Given the description of an element on the screen output the (x, y) to click on. 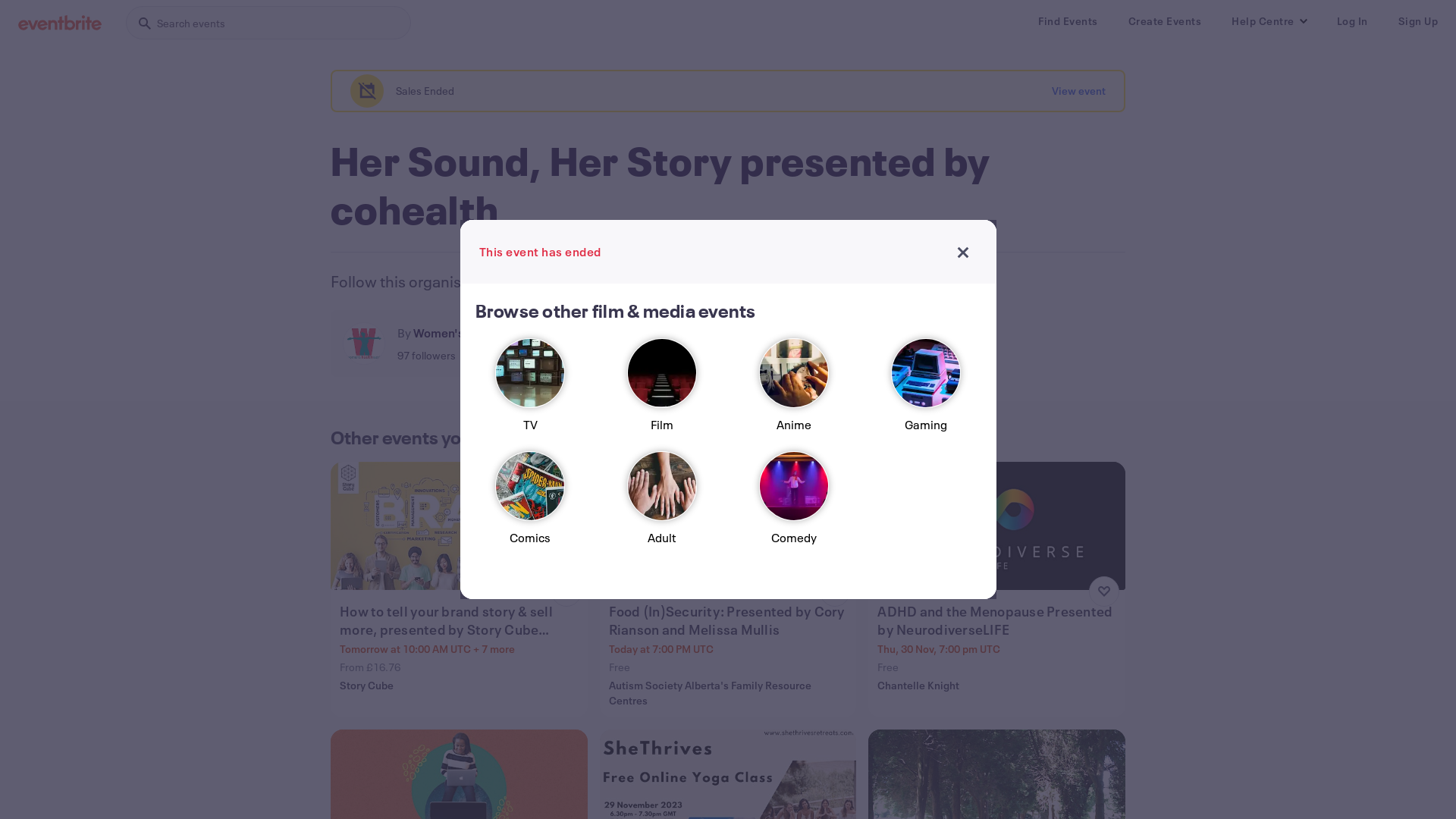
Find Events Element type: text (1068, 21)
Film Element type: text (661, 391)
TV Element type: text (530, 391)
Search events Element type: text (268, 22)
Log In Element type: text (1351, 21)
Adult Element type: text (661, 504)
Sign Up Element type: text (1418, 21)
Create Events Element type: text (1165, 21)
Eventbrite Element type: hover (59, 22)
ADHD and the Menopause Presented by NeurodiverseLIFE Element type: text (998, 620)
Comics Element type: text (530, 504)
Anime Element type: text (793, 391)
Follow Element type: text (584, 343)
View event Element type: text (1078, 90)
Gaming Element type: text (925, 391)
Comedy Element type: text (793, 504)
